Given the description of an element on the screen output the (x, y) to click on. 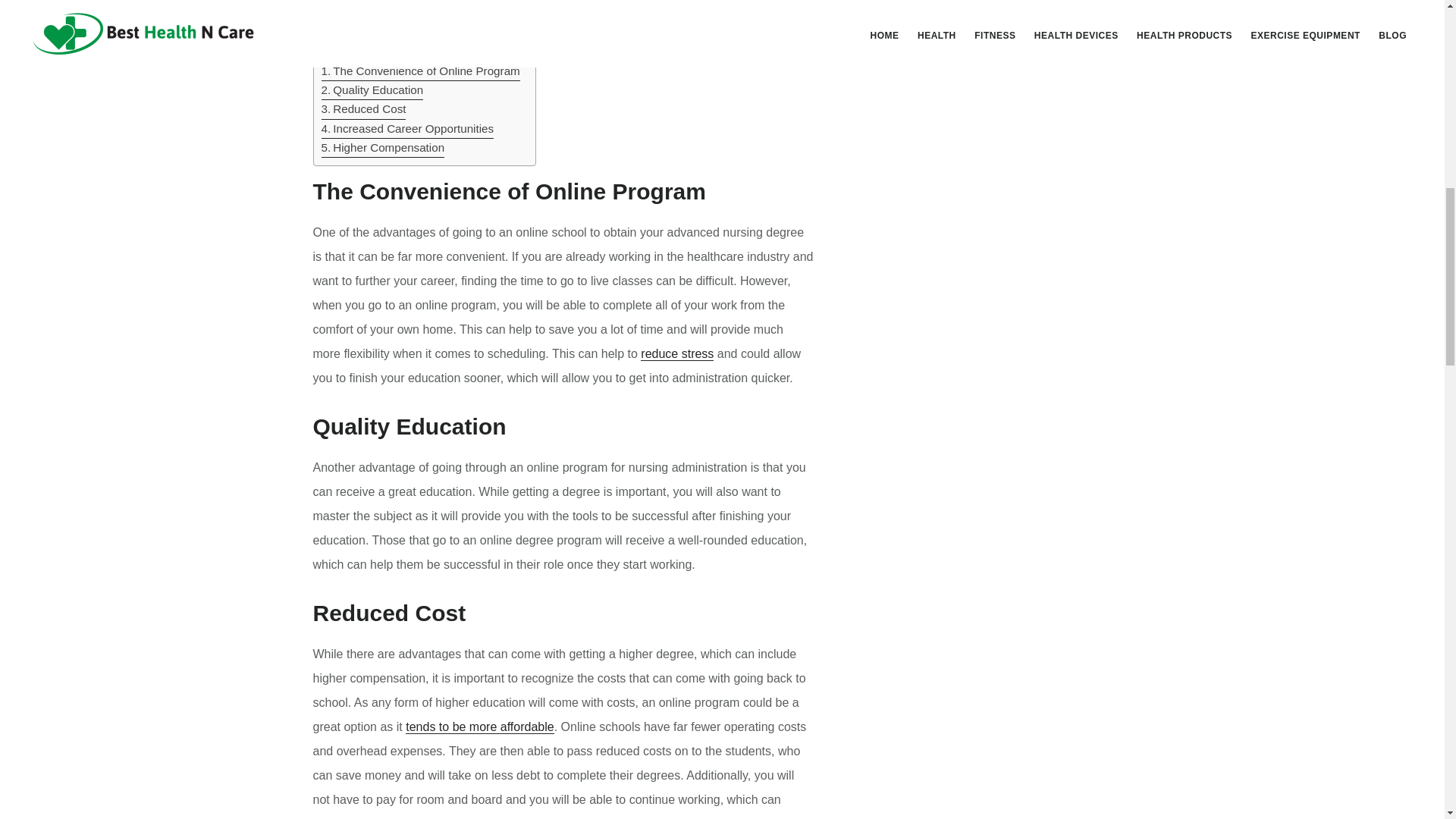
Reduced Cost (363, 108)
tends to be more affordable (479, 726)
reduce stress (676, 354)
Quality Education (372, 90)
Reduced Cost (363, 108)
The Convenience of Online Program (420, 71)
Increased Career Opportunities (408, 128)
Higher Compensation (383, 148)
The Convenience of Online Program (420, 71)
Quality Education (372, 90)
Higher Compensation (383, 148)
Increased Career Opportunities (408, 128)
